Given the description of an element on the screen output the (x, y) to click on. 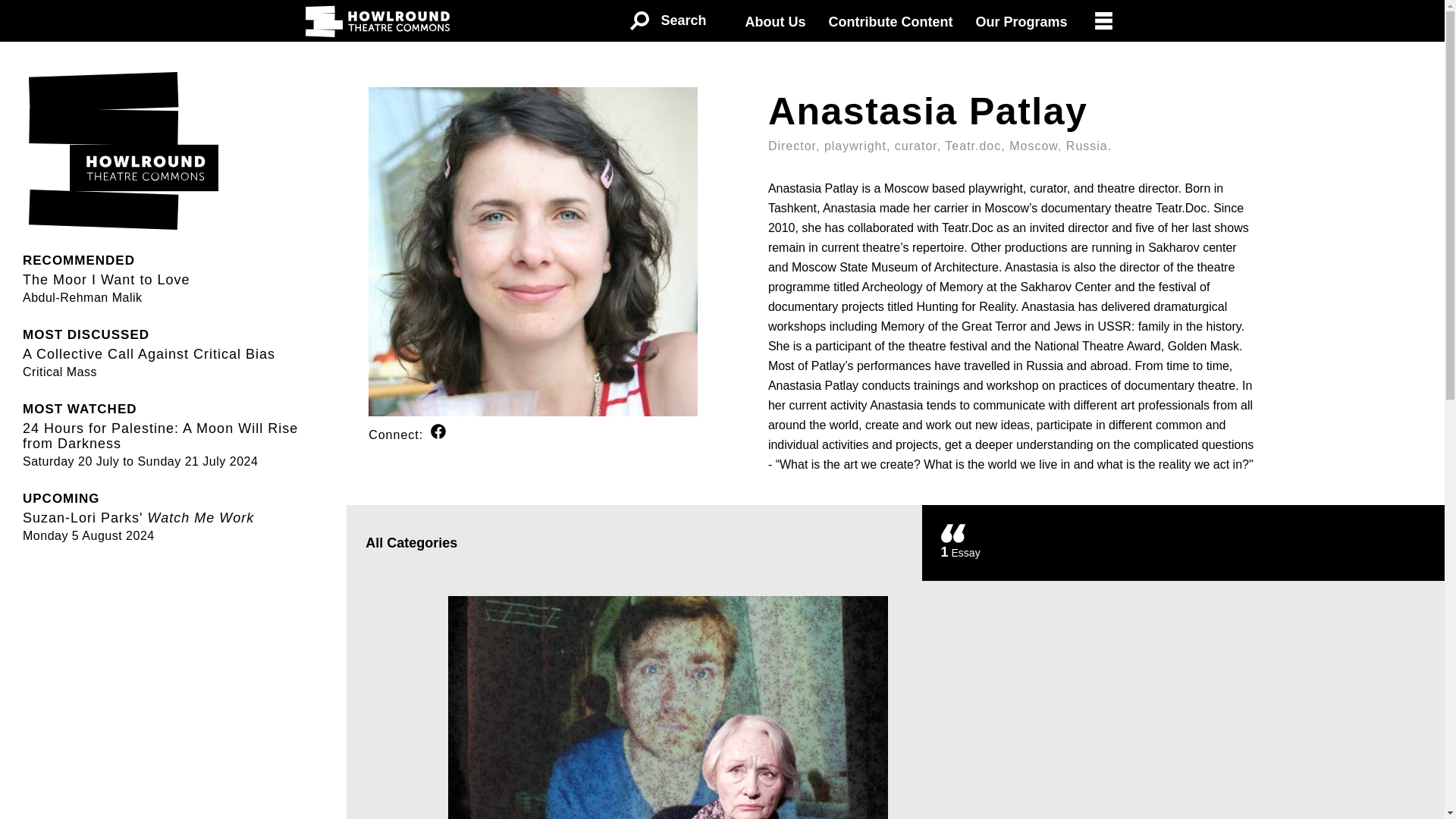
About Us (102, 277)
Skip to main content (774, 21)
In Search of Complexities (1182, 542)
Search (668, 699)
All Categories (667, 20)
Our Programs (633, 542)
Contribute Content (1020, 21)
Facebook (889, 21)
